Given the description of an element on the screen output the (x, y) to click on. 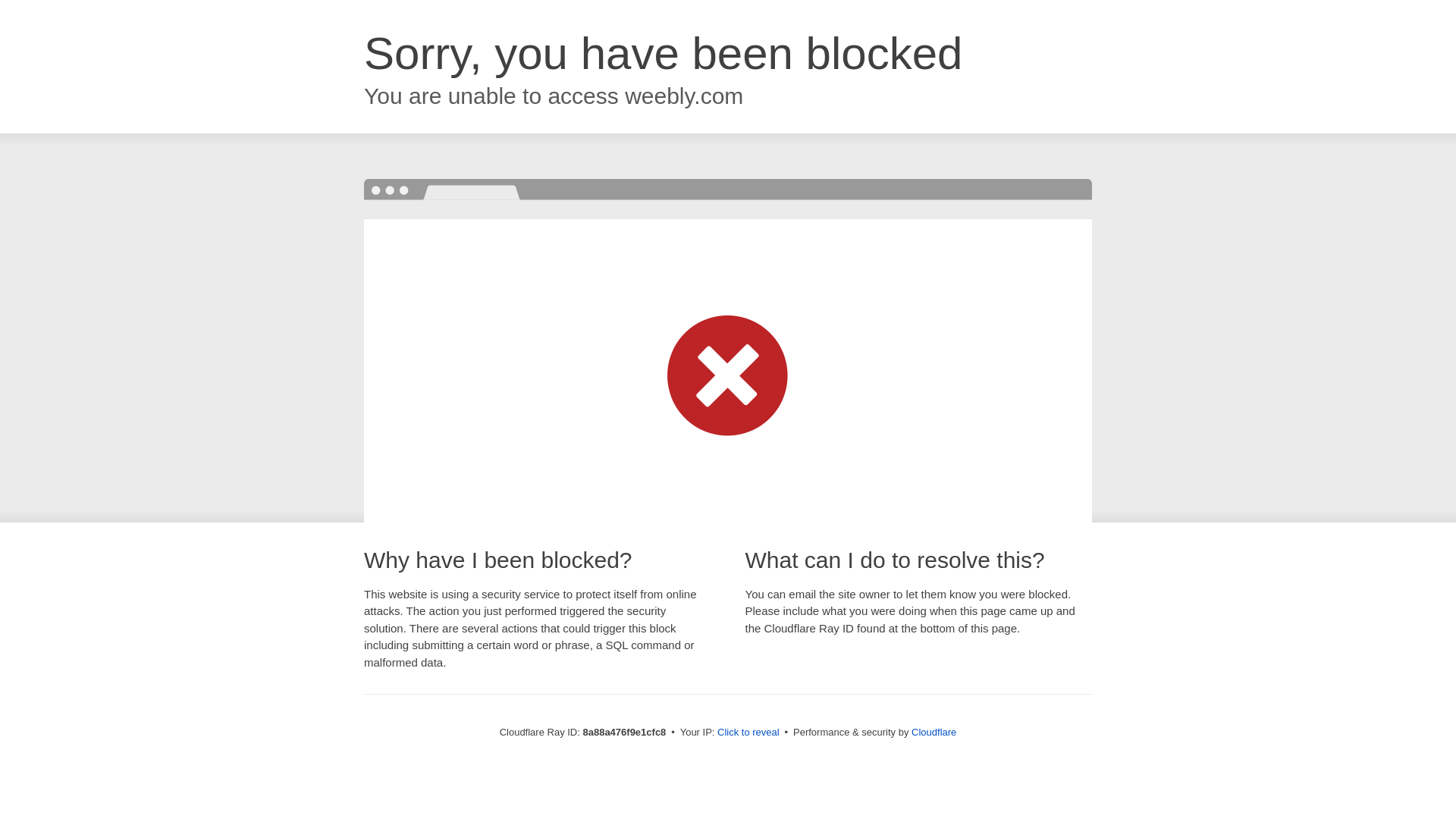
Click to reveal (747, 732)
Cloudflare (933, 731)
